Given the description of an element on the screen output the (x, y) to click on. 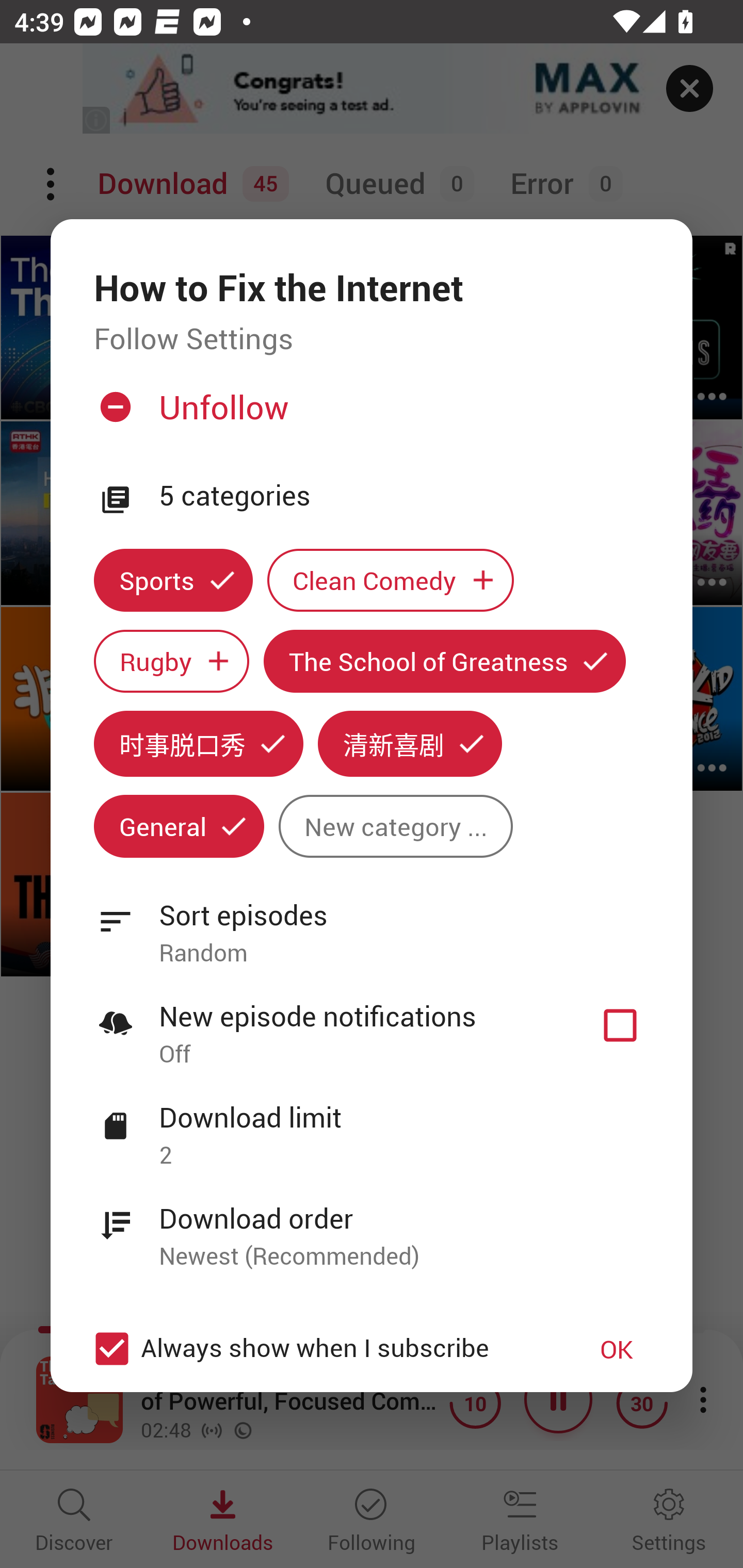
Unfollow (369, 415)
5 categories (404, 495)
Sports (172, 579)
Clean Comedy (390, 579)
Rugby (170, 661)
The School of Greatness (444, 661)
时事脱口秀 (198, 743)
清新喜剧 (410, 743)
General (178, 825)
New category ... (395, 825)
Sort episodes Random (371, 922)
New episode notifications (620, 1025)
Download limit 2 (371, 1125)
Download order Newest (Recommended) (371, 1226)
OK (616, 1349)
Always show when I subscribe (320, 1349)
